Given the description of an element on the screen output the (x, y) to click on. 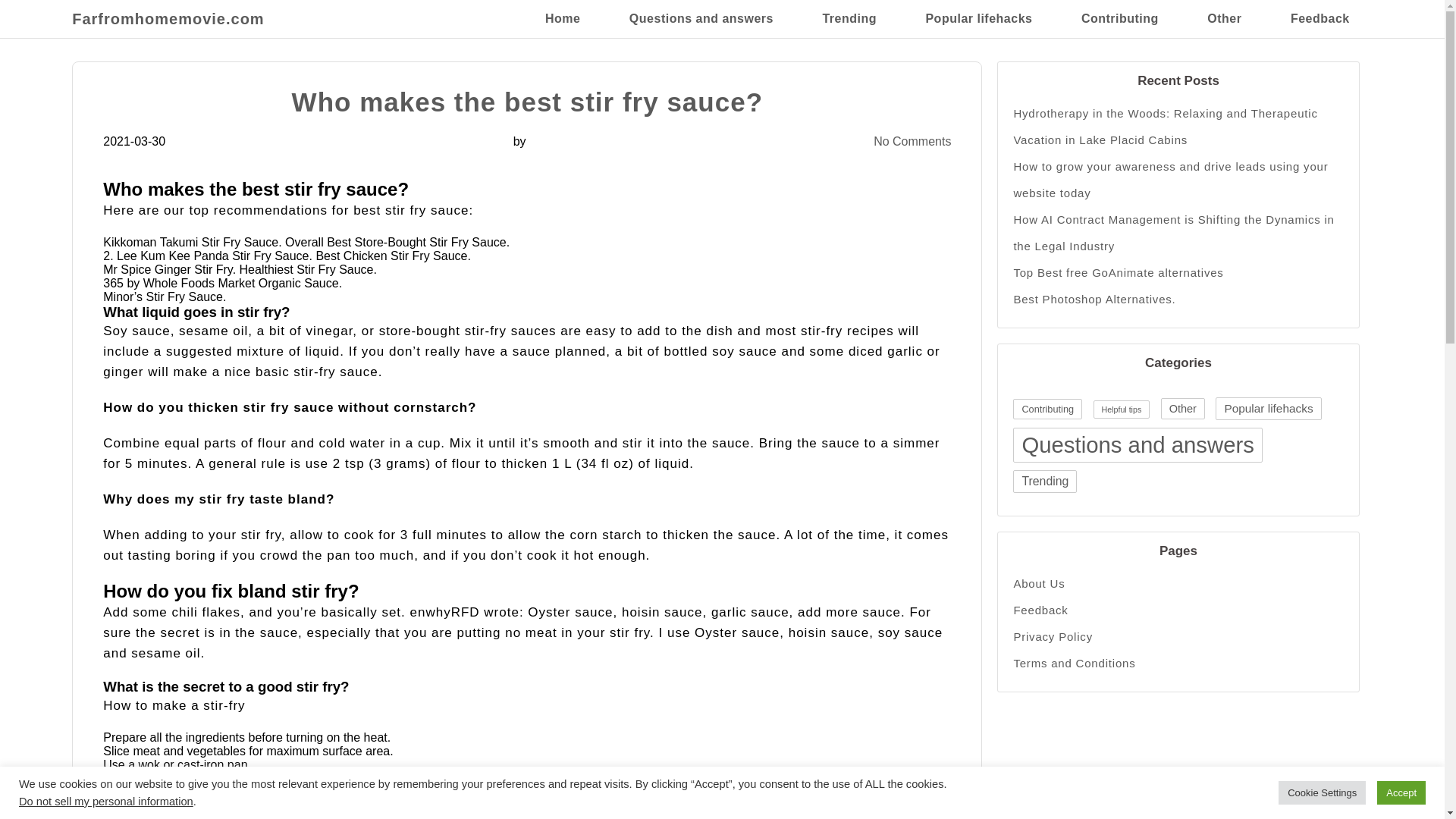
Best Photoshop Alternatives. (1177, 298)
Questions and answers (701, 18)
Questions and answers (1137, 444)
Accept (1401, 792)
Feedback (1319, 18)
Popular lifehacks (978, 18)
Trending (849, 18)
Terms and Conditions (1177, 663)
